Given the description of an element on the screen output the (x, y) to click on. 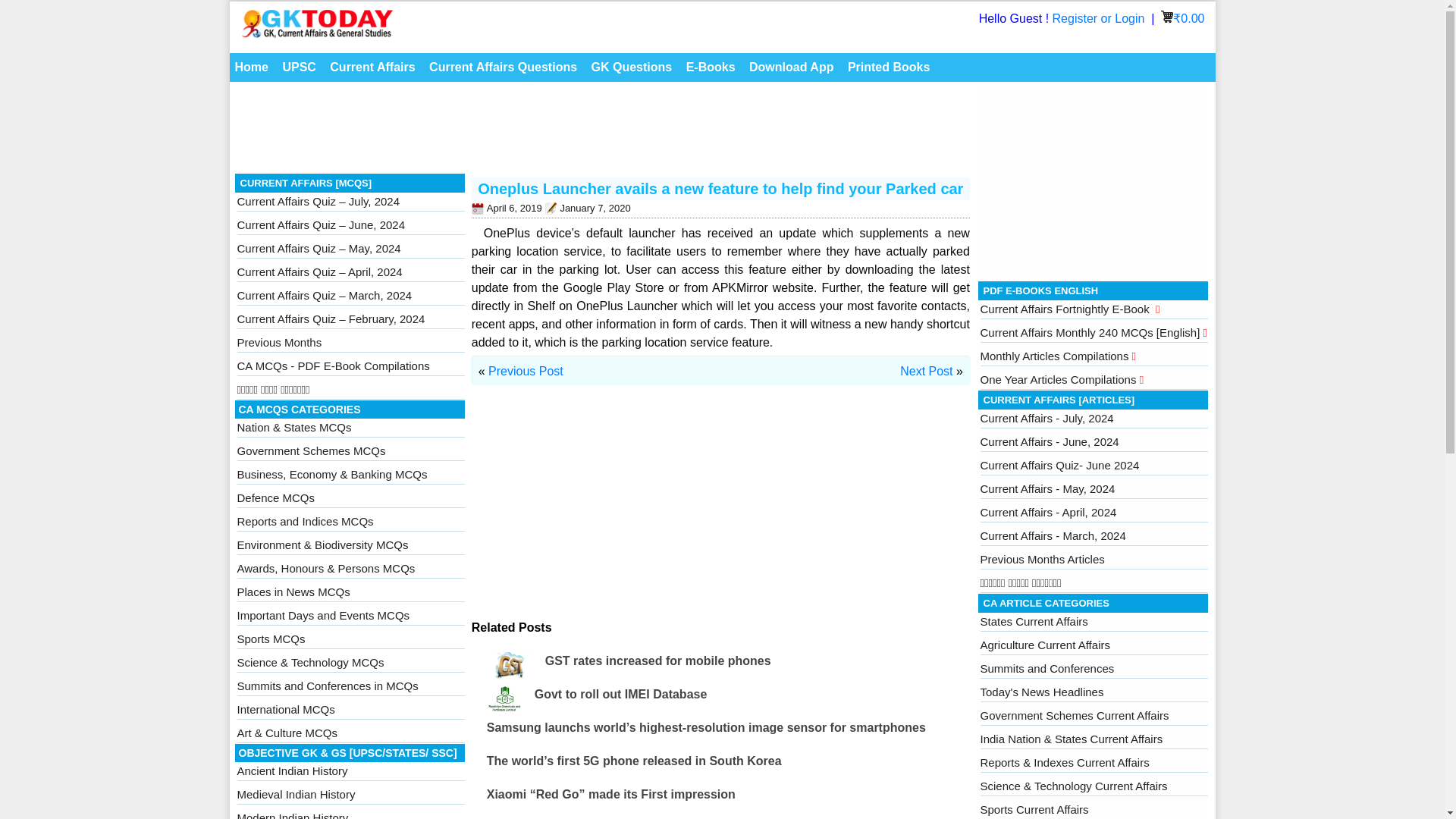
Advertisement (602, 131)
Home (250, 67)
Current Affairs (372, 67)
Printed Books (888, 67)
Govt to roll out IMEI Database (620, 694)
GST rates increased for mobile phones (657, 660)
Defence MCQs (274, 497)
GST rates increased for mobile phones (657, 660)
Next Post (925, 370)
GK Questions (632, 67)
Reports and Indices MCQs (303, 521)
Download App (791, 67)
E-Books (711, 67)
Register or Login (1100, 18)
